Given the description of an element on the screen output the (x, y) to click on. 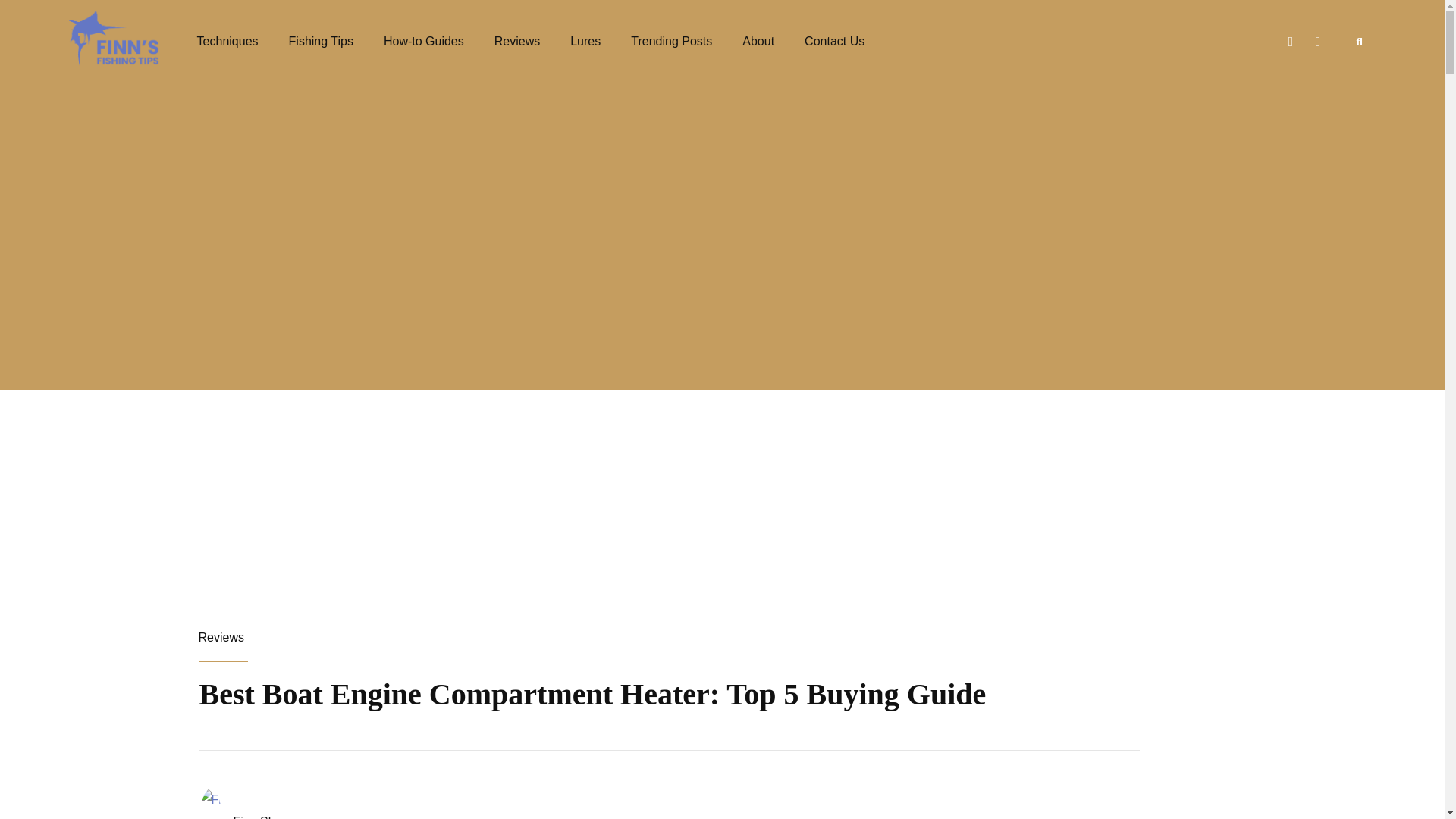
Trending Posts (670, 41)
Contact Us (834, 41)
Fishing Tips (320, 41)
Techniques (227, 41)
Reviews (517, 41)
About (758, 41)
How-to Guides (424, 41)
